Given the description of an element on the screen output the (x, y) to click on. 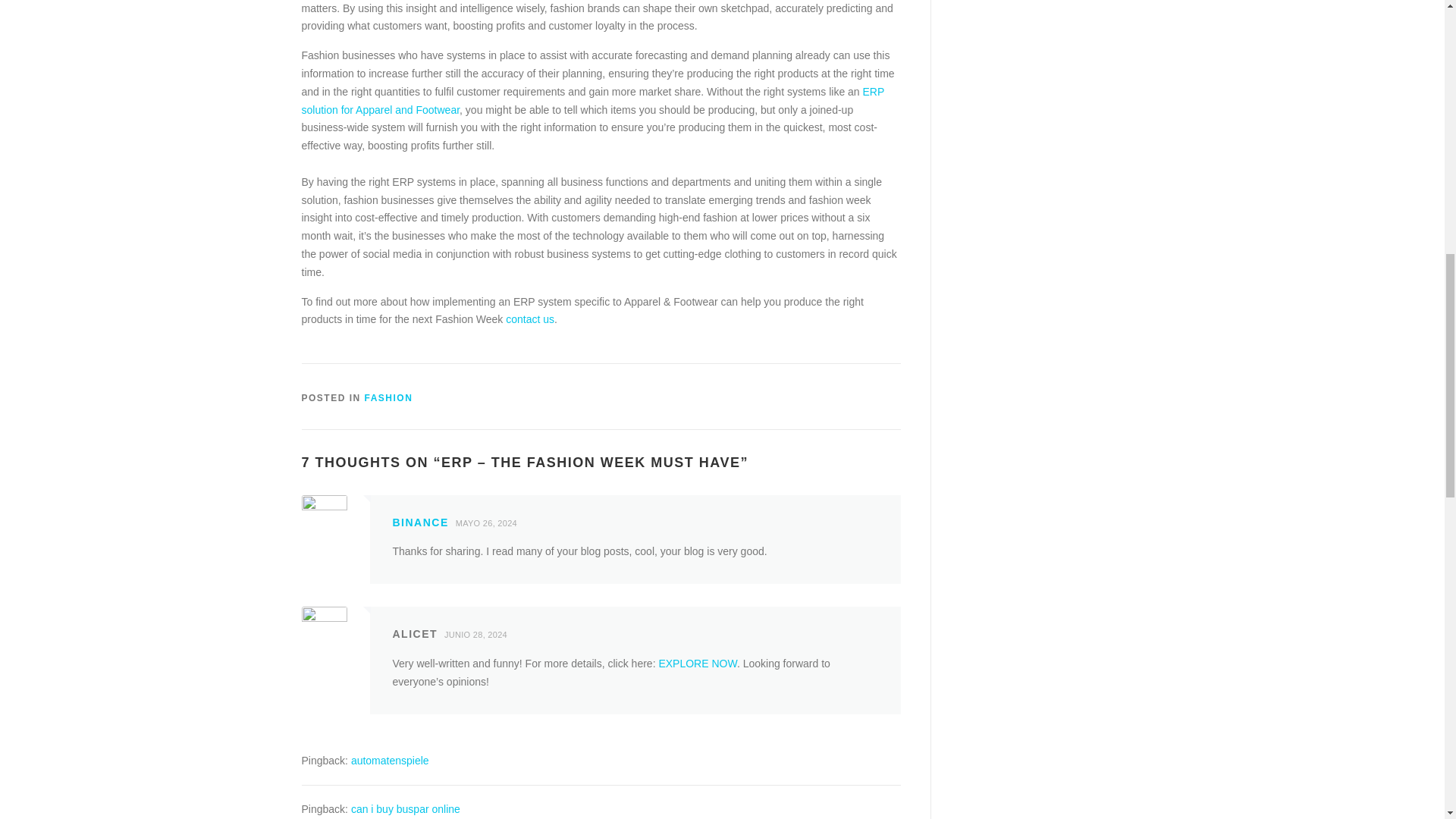
FASHION (389, 398)
EXPLORE NOW (697, 663)
MAYO 26, 2024 (489, 522)
ERP solution for Apparel and Footwear (593, 100)
can i buy buspar online (405, 808)
contact us (529, 318)
BINANCE (420, 522)
automatenspiele (389, 760)
JUNIO 28, 2024 (479, 634)
